Given the description of an element on the screen output the (x, y) to click on. 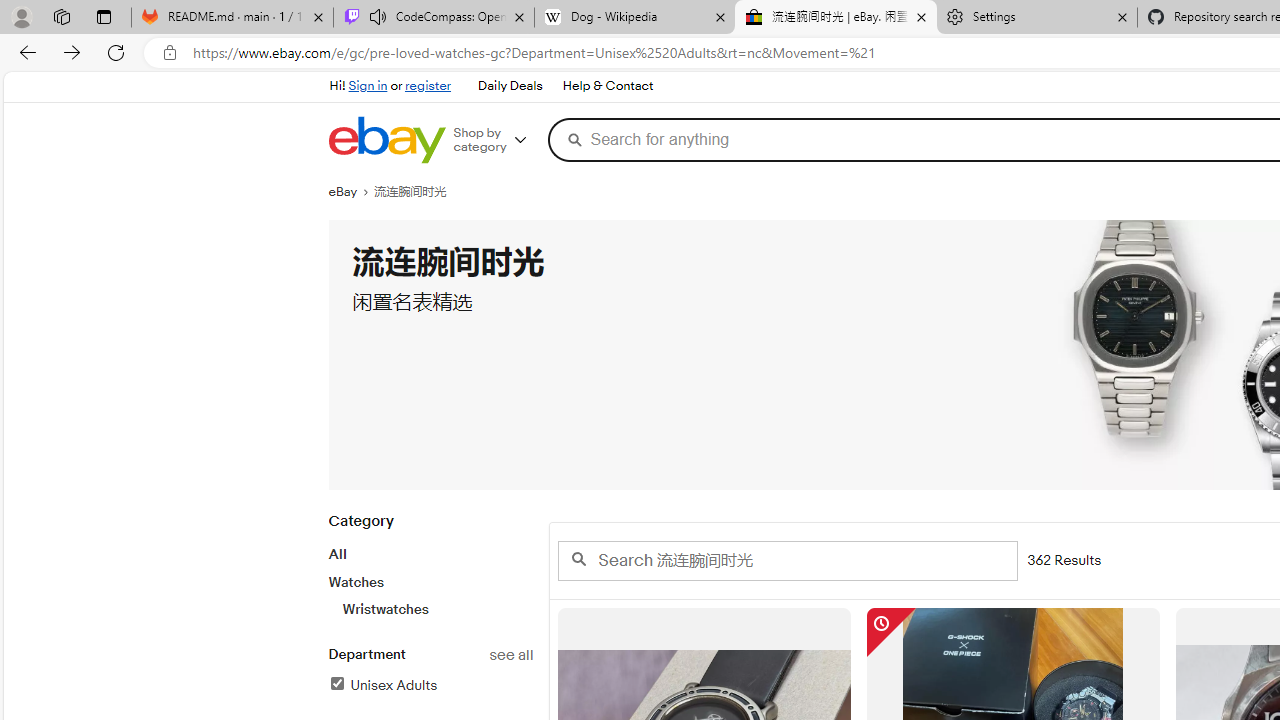
Dog - Wikipedia (634, 17)
eBay Home (386, 139)
Unisex AdultsFilter Applied (430, 686)
Help & Contact (607, 86)
register (427, 85)
